Given the description of an element on the screen output the (x, y) to click on. 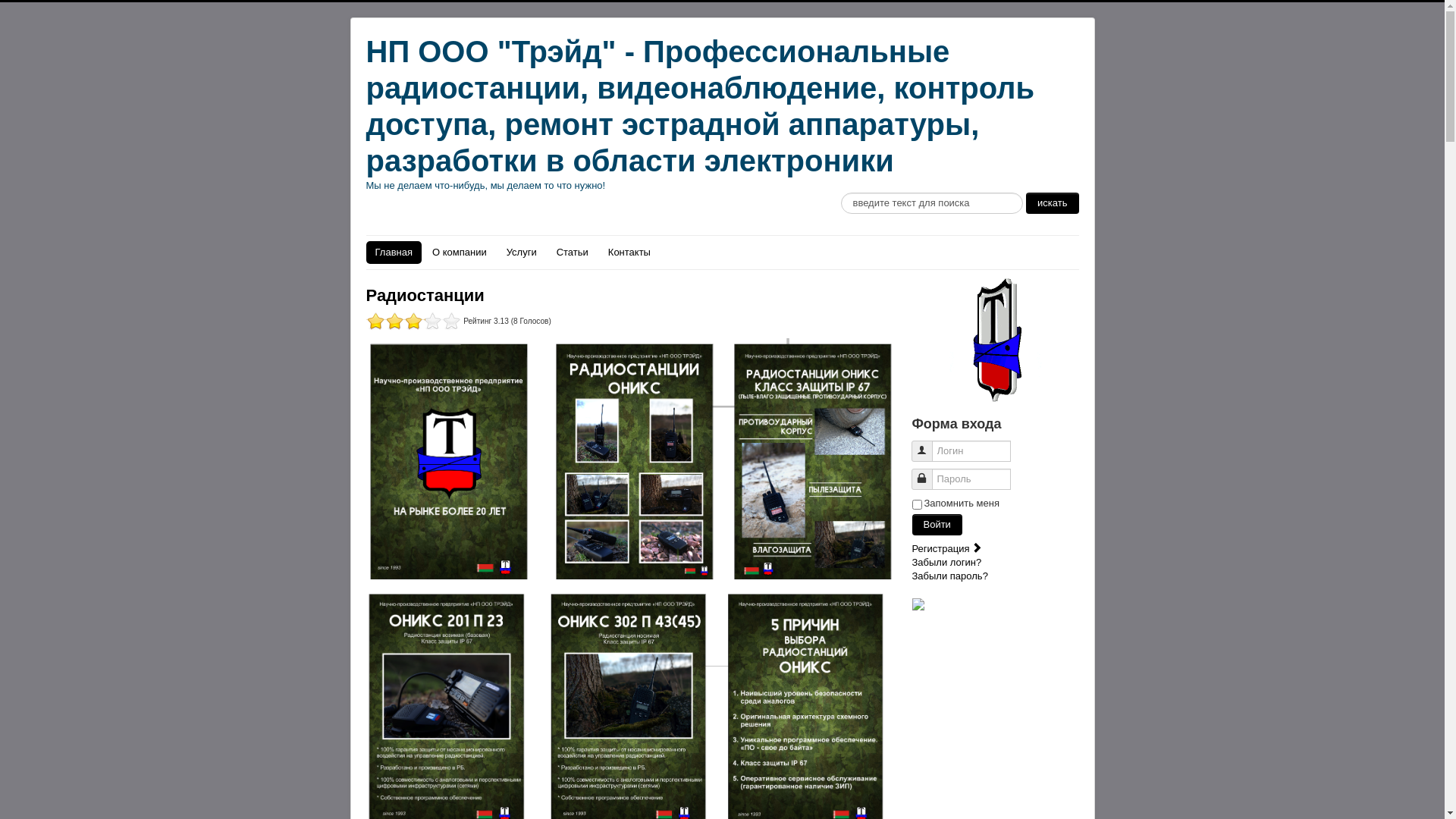
1 Element type: text (403, 320)
1 Element type: text (412, 320)
1 Element type: text (374, 320)
1 Element type: text (393, 320)
1 Element type: text (384, 320)
